Given the description of an element on the screen output the (x, y) to click on. 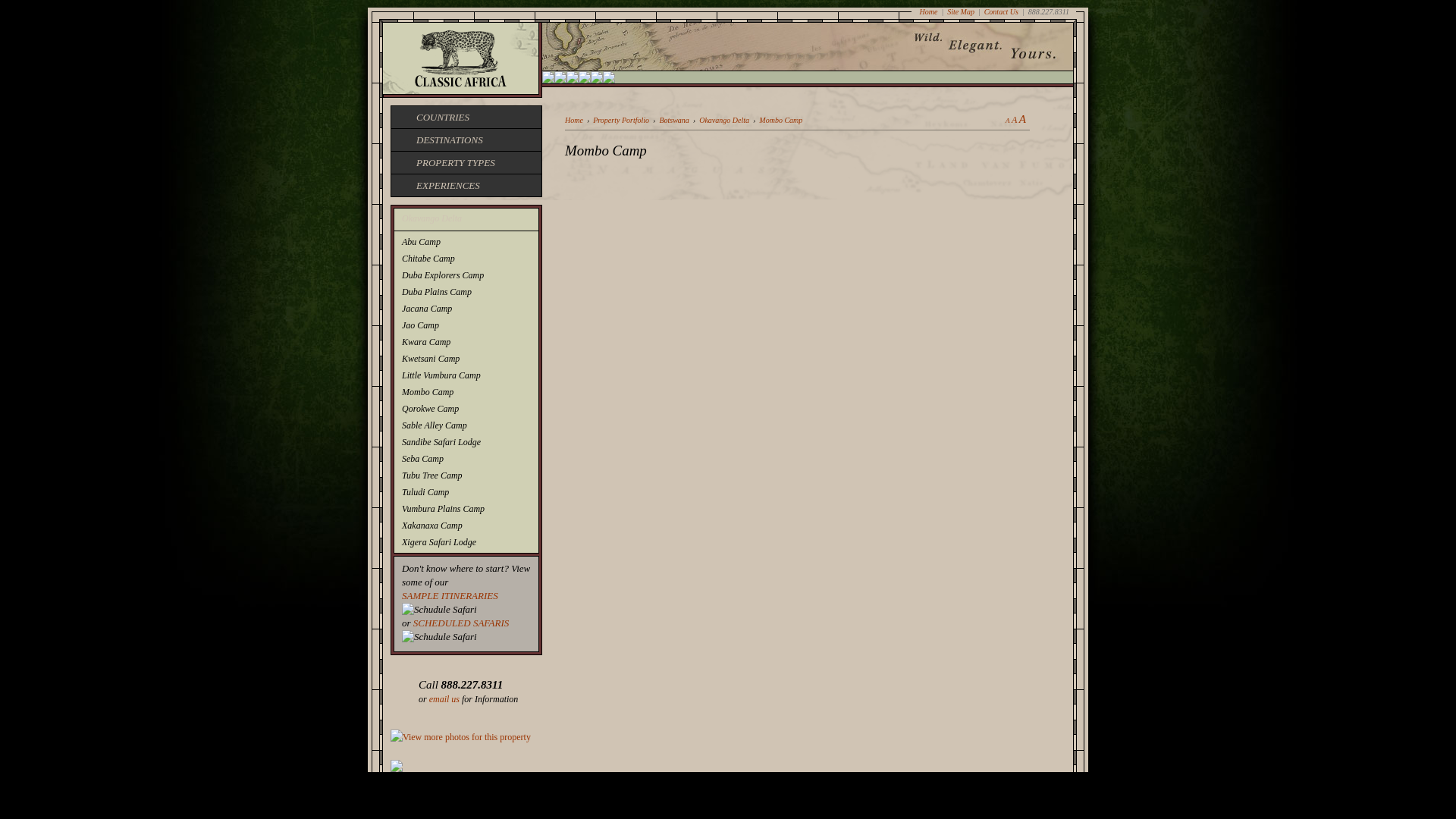
Little Vumbura Camp (466, 375)
Xigera Safari Lodge (466, 541)
Okavango Delta (466, 219)
Tubu Tree Camp (466, 475)
Duba Explorers Camp (466, 274)
Jao Camp (466, 324)
Home (927, 11)
Kwara Camp (466, 341)
SCHEDULED SAFARIS (461, 622)
Contact Us (1000, 11)
